Given the description of an element on the screen output the (x, y) to click on. 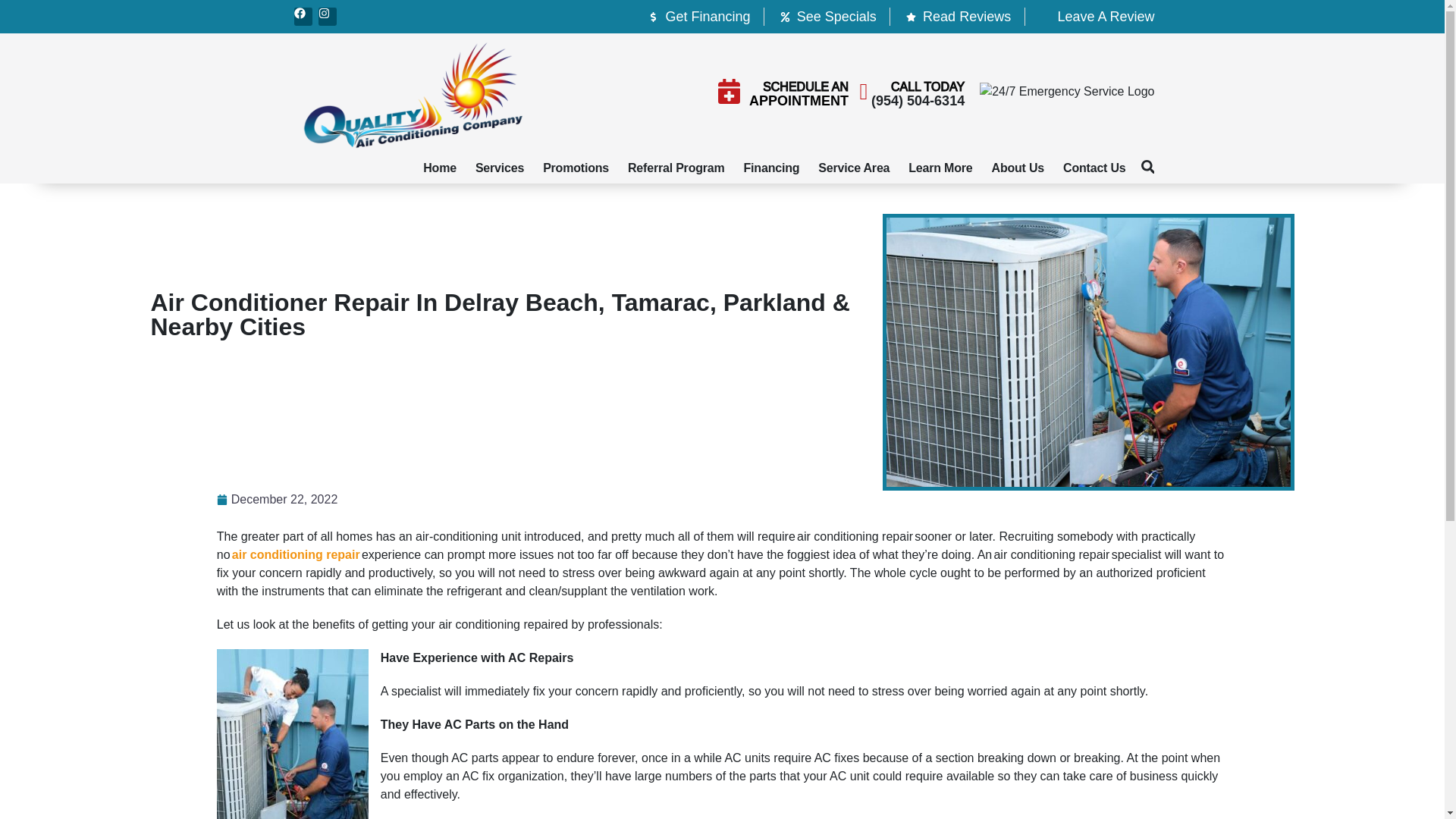
Service Area (853, 168)
Referral Program (676, 168)
CALL TODAY (927, 86)
Read Reviews (957, 16)
Home (440, 168)
Get Financing (697, 16)
Promotions (575, 168)
See Specials (826, 16)
Leave A Review (1096, 16)
Learn More (940, 168)
APPOINTMENT (798, 100)
Services (500, 168)
Financing (771, 168)
SCHEDULE AN (805, 86)
